Given the description of an element on the screen output the (x, y) to click on. 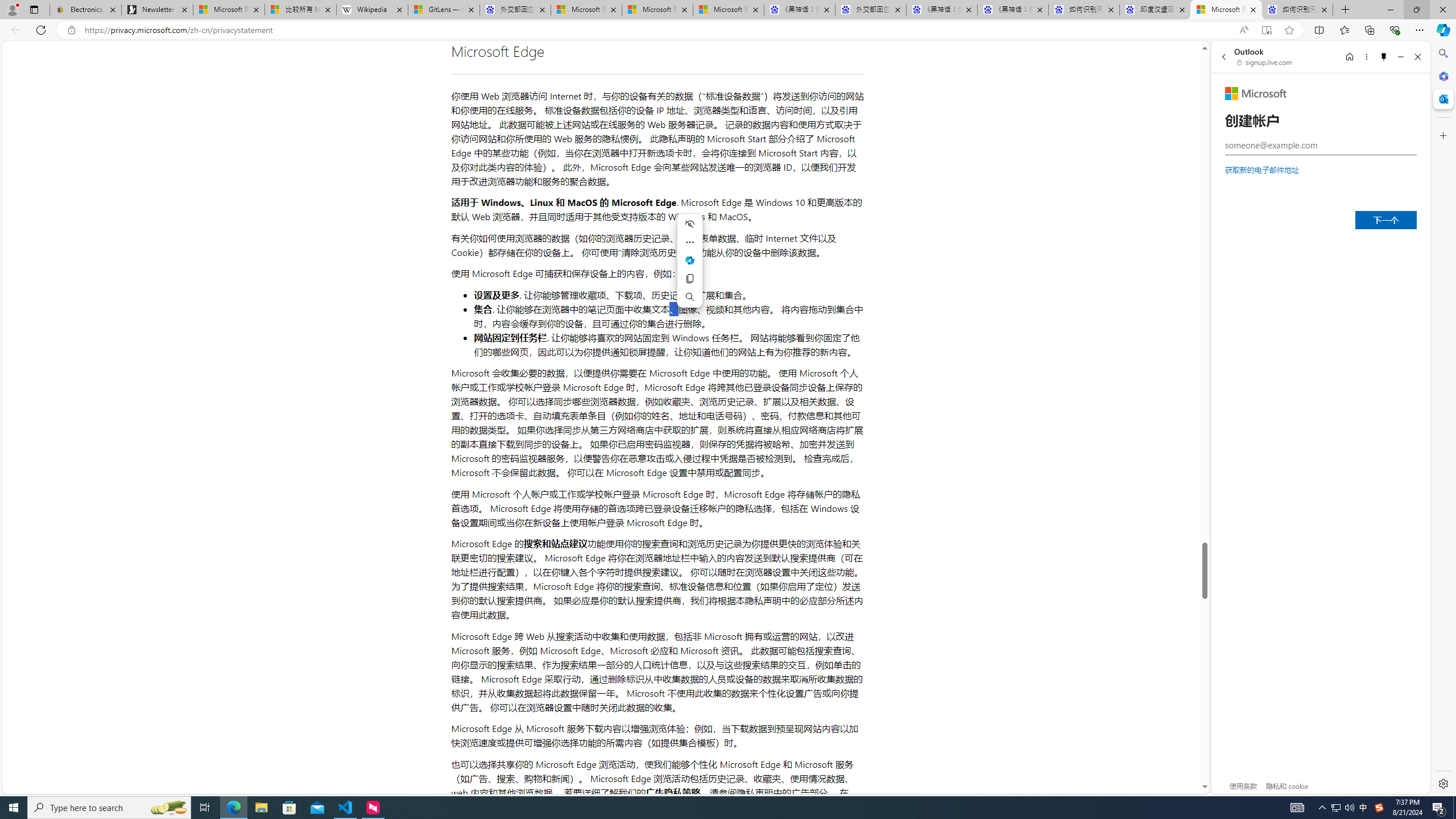
Hide menu (689, 223)
Mini menu on text selection (689, 260)
signup.live.com (1264, 61)
